Given the description of an element on the screen output the (x, y) to click on. 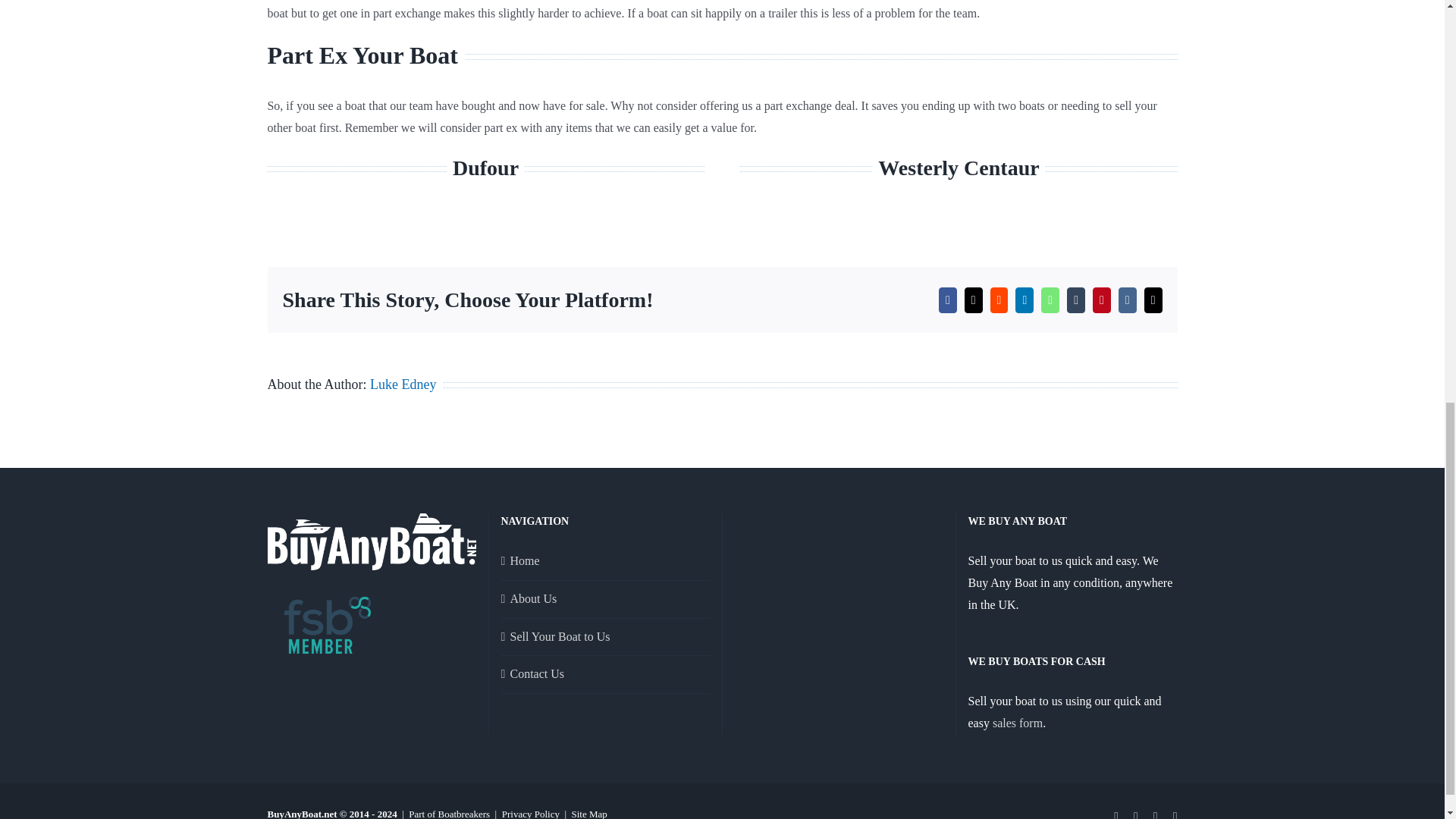
Luke Edney (721, 187)
